Given the description of an element on the screen output the (x, y) to click on. 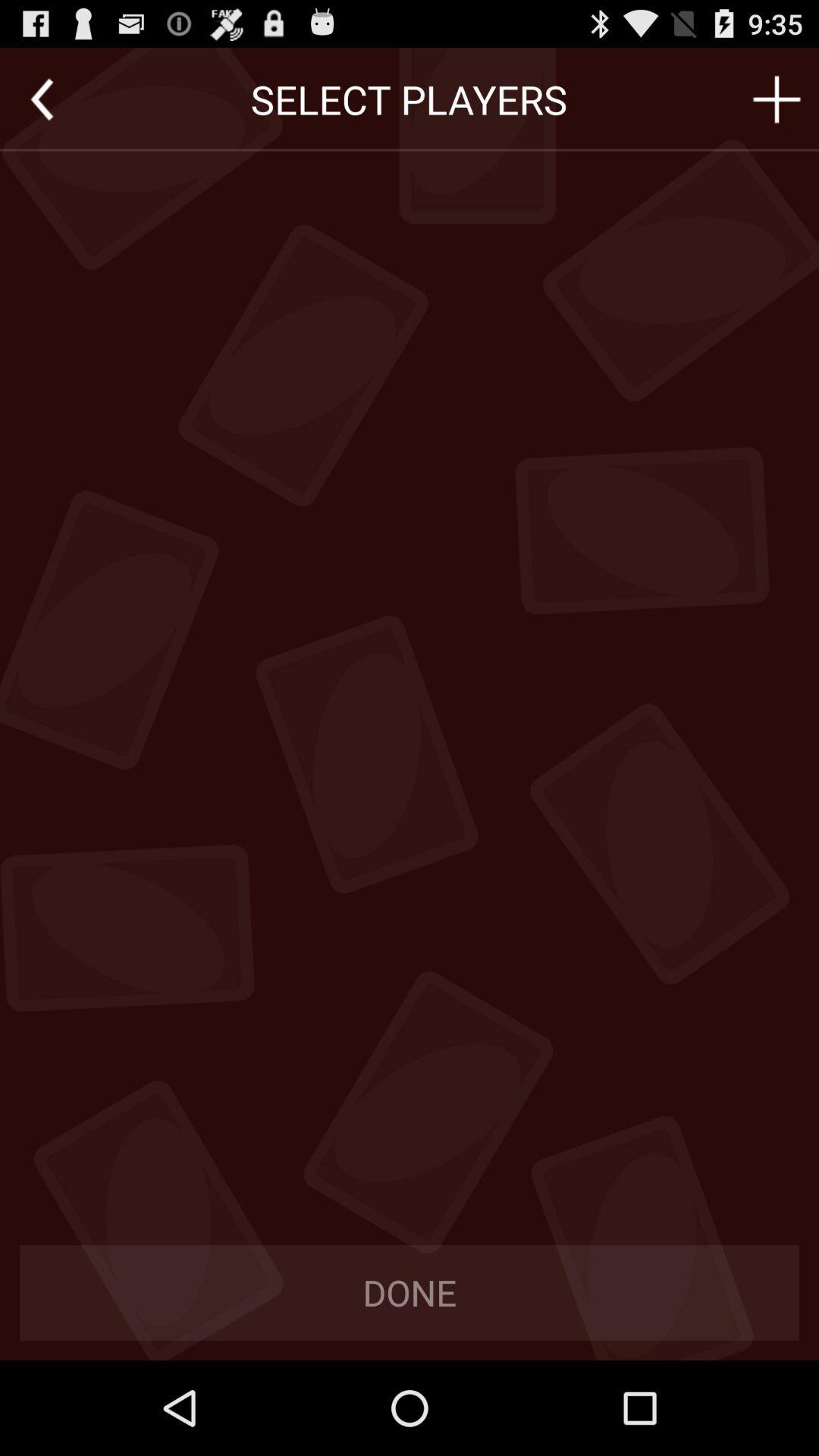
go to players (776, 99)
